Given the description of an element on the screen output the (x, y) to click on. 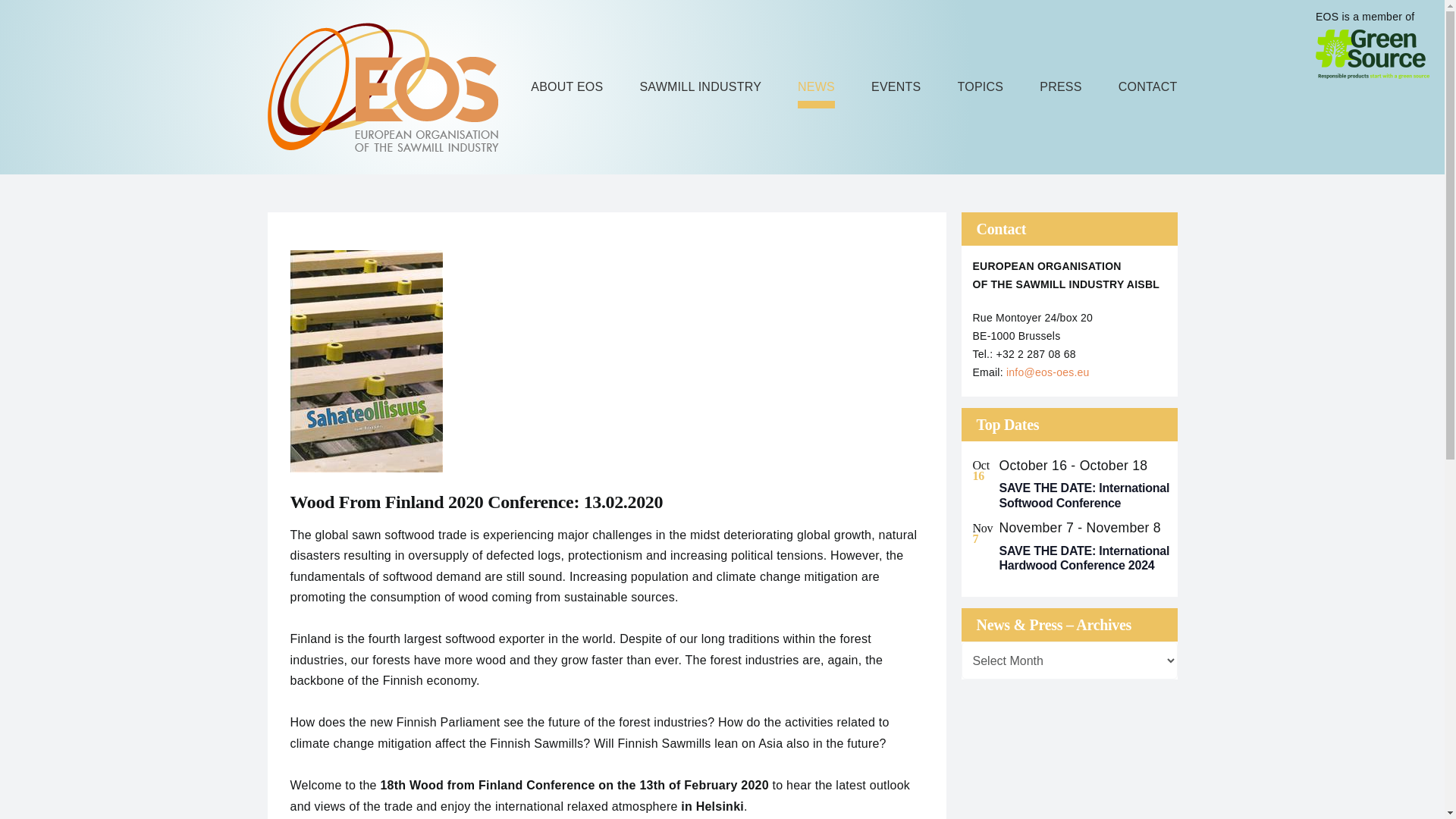
SAWMILL INDUSTRY (700, 86)
SAVE THE DATE: International Softwood Conference (1084, 494)
SAVE THE DATE: International Hardwood Conference 2024 (1084, 557)
